Given the description of an element on the screen output the (x, y) to click on. 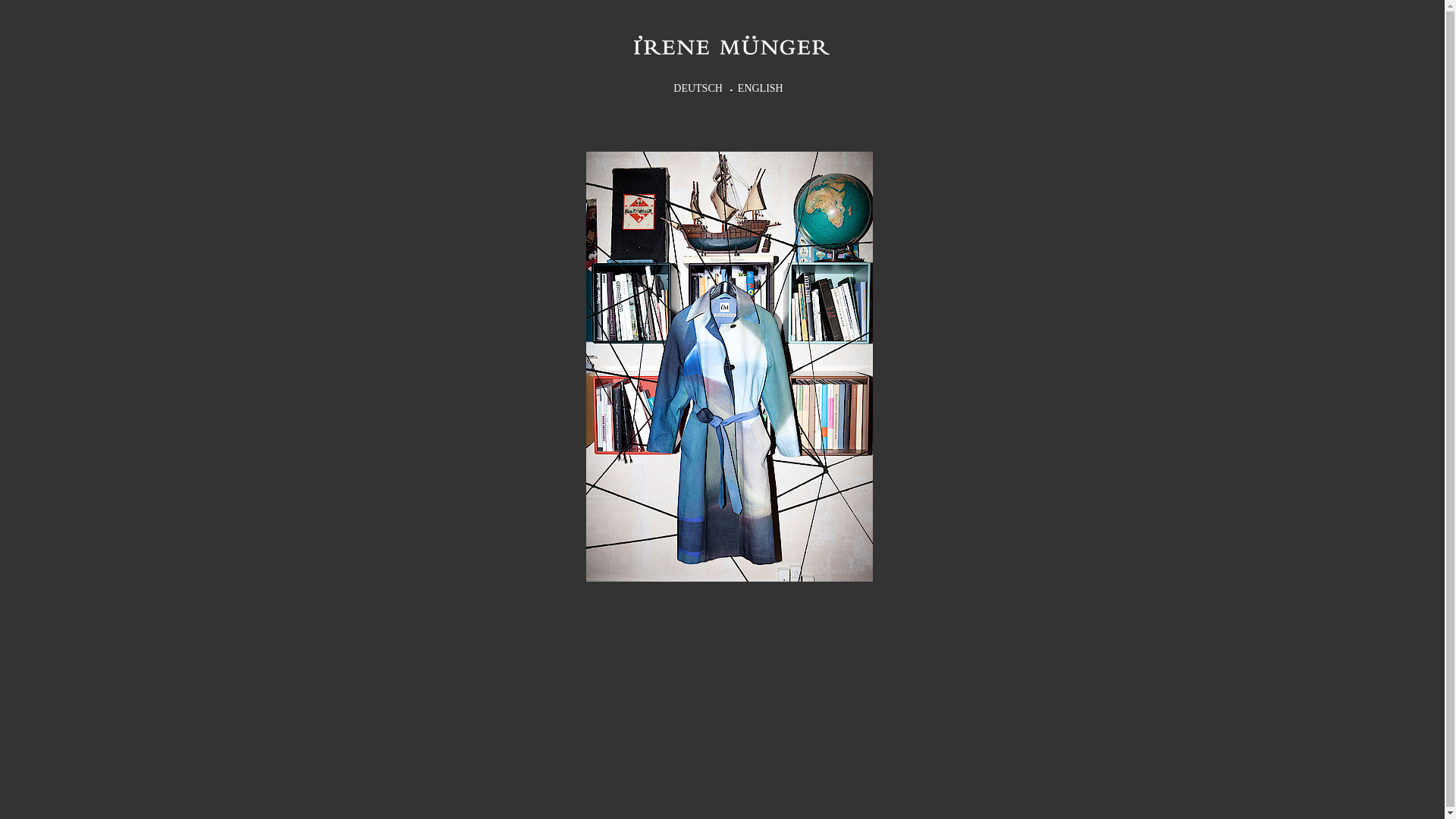
ENGLISH Element type: text (760, 85)
Firmenname Element type: hover (730, 45)
DEUTSCH Element type: text (697, 85)
